Given the description of an element on the screen output the (x, y) to click on. 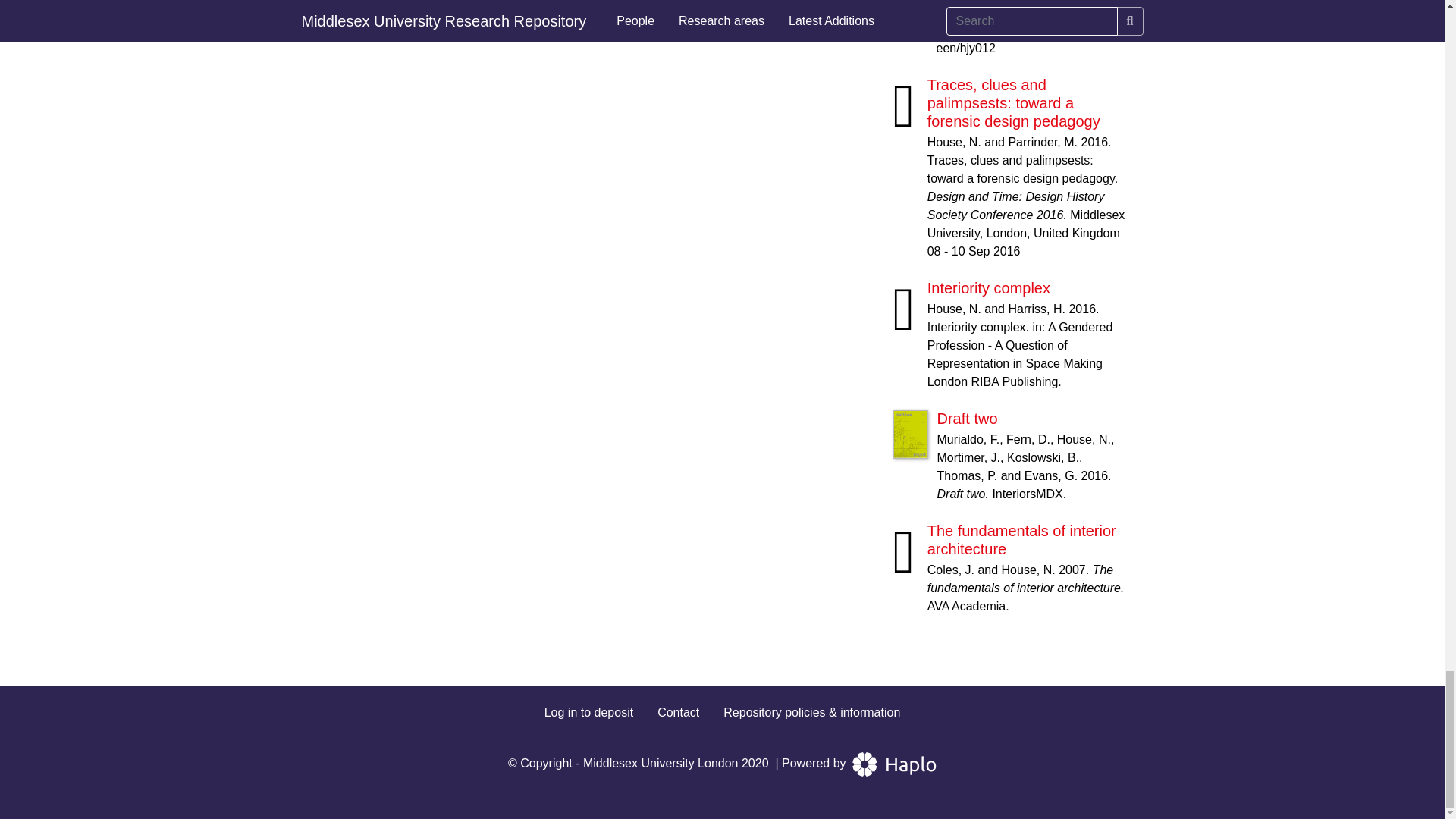
Log in to deposit (588, 711)
The fundamentals of interior architecture (1021, 539)
Interiority complex (988, 288)
Draft two (967, 418)
